Given the description of an element on the screen output the (x, y) to click on. 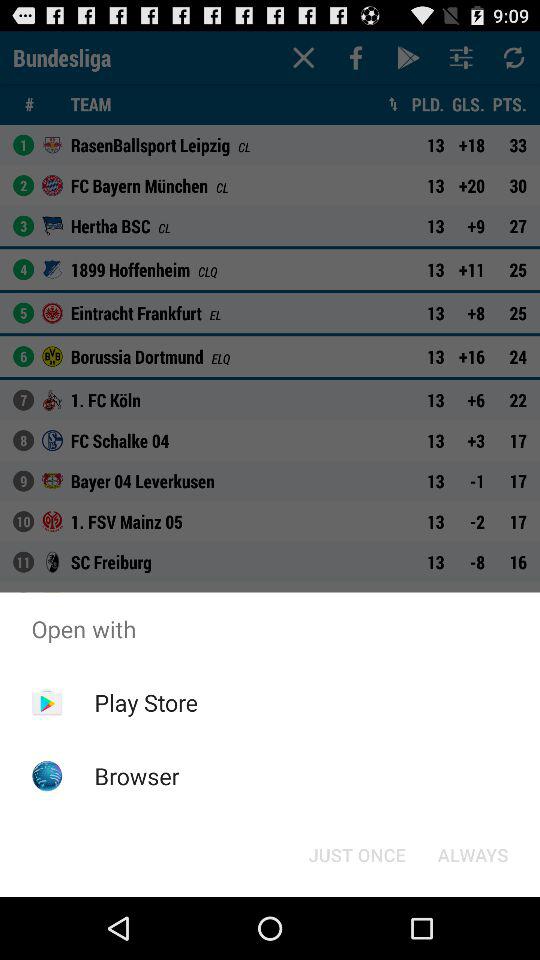
choose item next to the always button (356, 854)
